Given the description of an element on the screen output the (x, y) to click on. 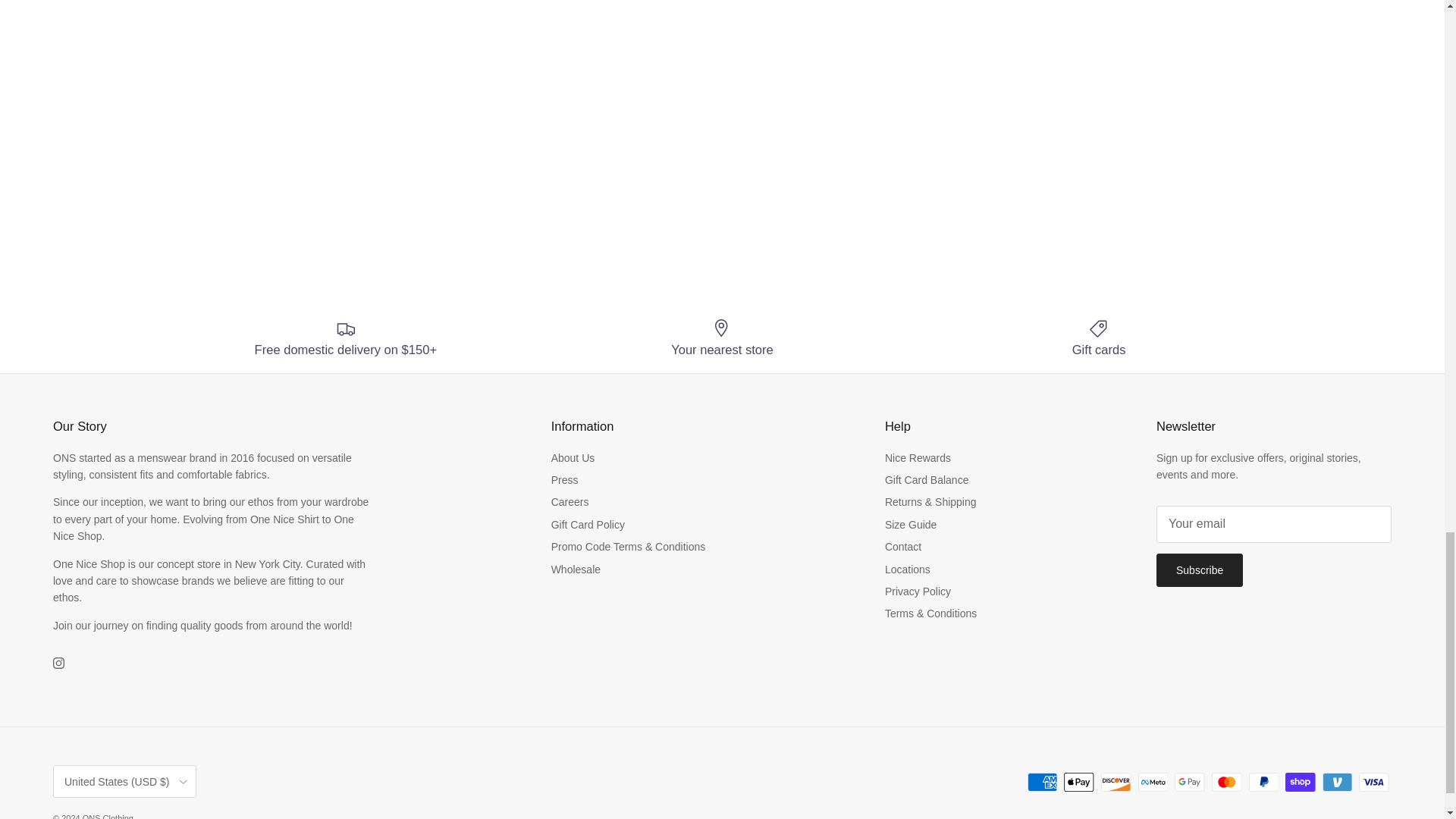
American Express (1042, 782)
Apple Pay (1078, 782)
ONS Clothing on Instagram (58, 663)
